Given the description of an element on the screen output the (x, y) to click on. 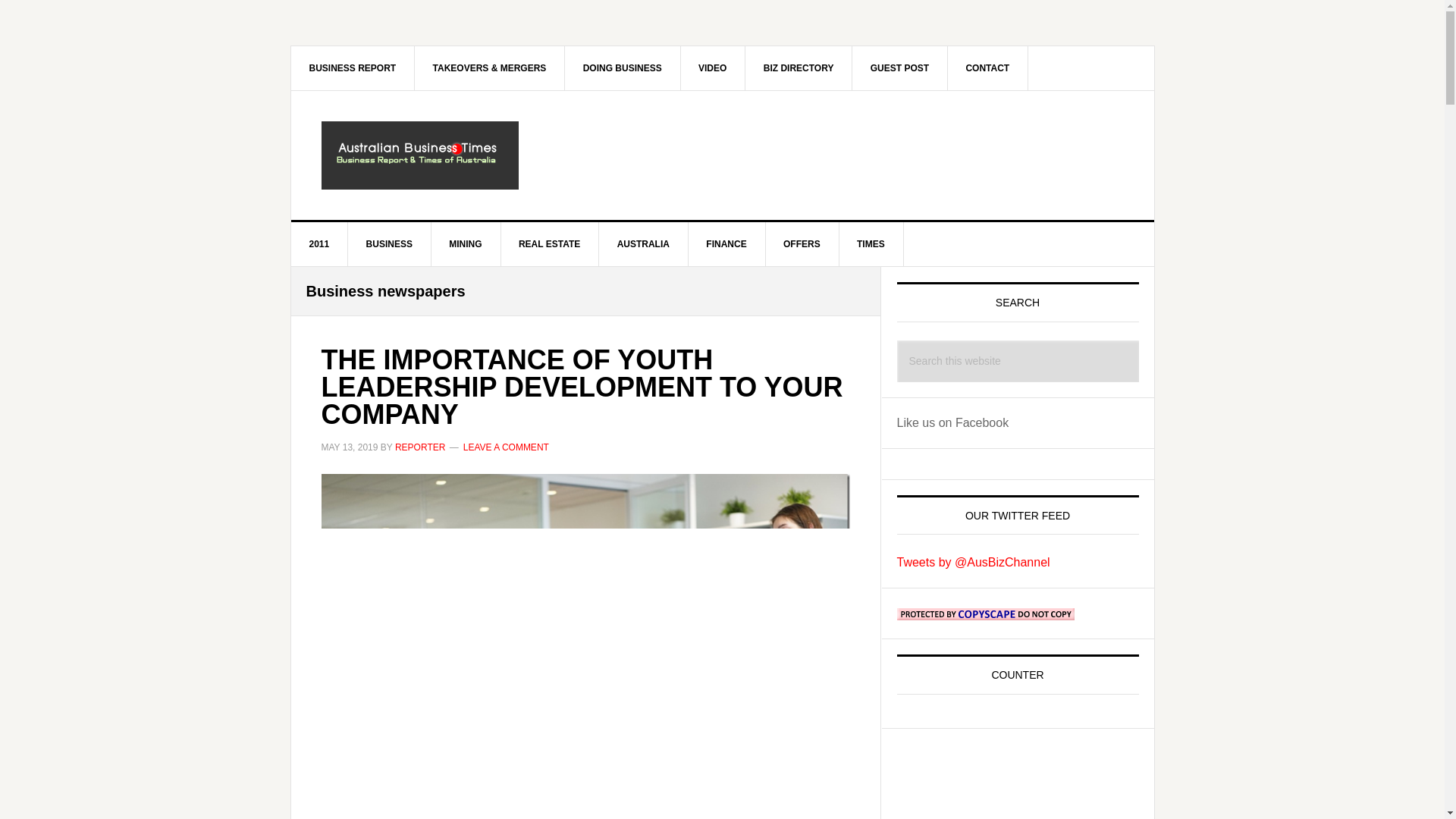
2011 (320, 243)
OFFERS (802, 243)
BUSINESS (388, 243)
Business Videos Australia (712, 67)
FINANCE (726, 243)
LEAVE A COMMENT (505, 447)
GUEST POST (899, 67)
BIZ DIRECTORY (799, 67)
MINING (465, 243)
